Given the description of an element on the screen output the (x, y) to click on. 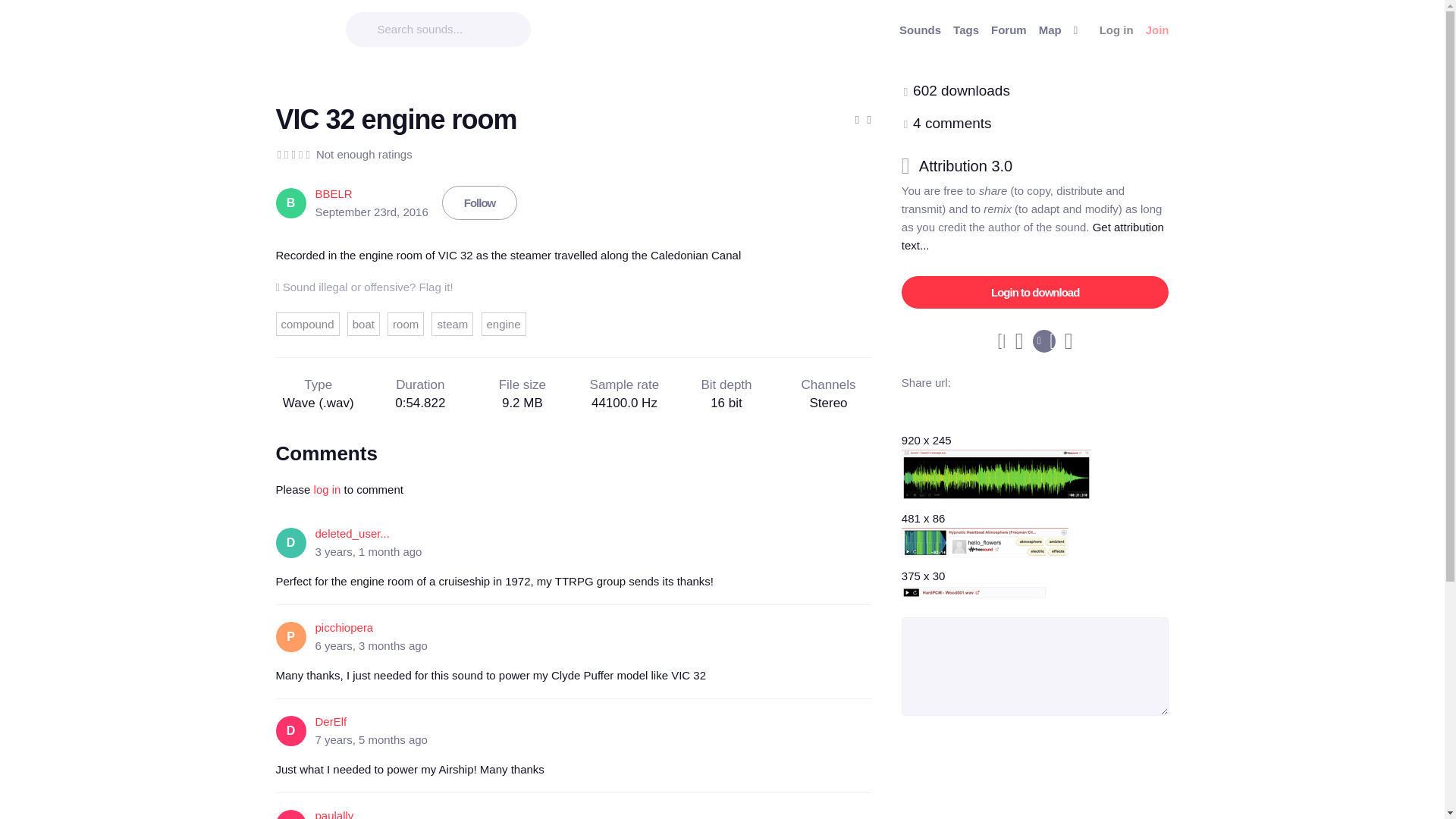
Go to the full license text (974, 166)
Flag this sound as illegal, offensive or other... (364, 286)
steam (451, 323)
compound (307, 323)
Join (1157, 29)
Sound illegal or offensive? Flag it! (364, 286)
Log in (1116, 29)
Map (1050, 30)
Follow (480, 202)
This sound has received 4 comments (951, 123)
picchiopera (344, 626)
This sound has been downloaded 602 times (961, 90)
engine (502, 323)
Average rating not shown as there are not enough ratings (293, 154)
Sounds (919, 30)
